Given the description of an element on the screen output the (x, y) to click on. 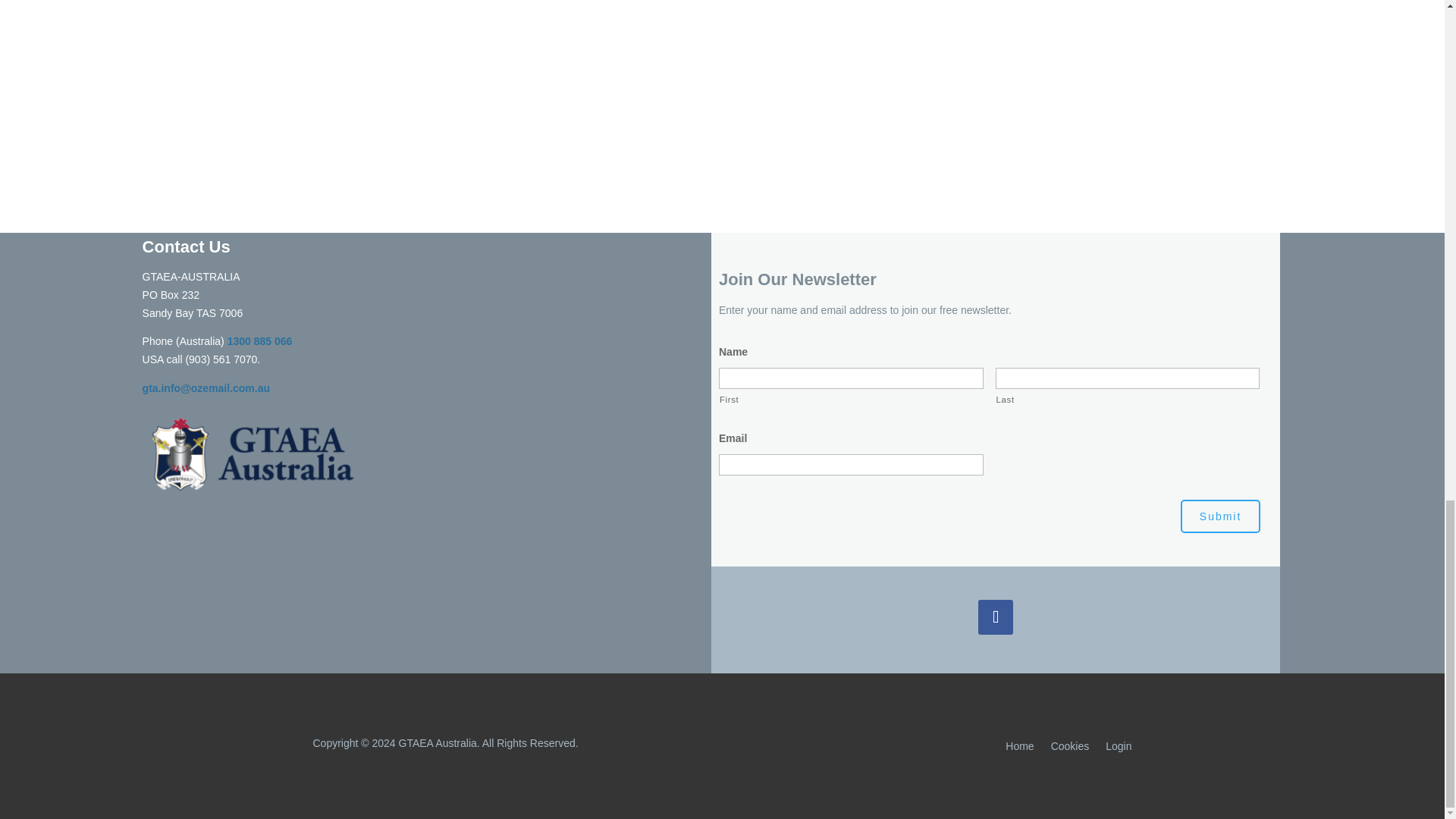
Home (1019, 749)
Login (1118, 749)
Follow on Facebook (995, 616)
Cookies (1070, 749)
Submit (1220, 516)
1300 885 066 (259, 340)
Submit (1220, 516)
GTAEA-logo (253, 454)
